Given the description of an element on the screen output the (x, y) to click on. 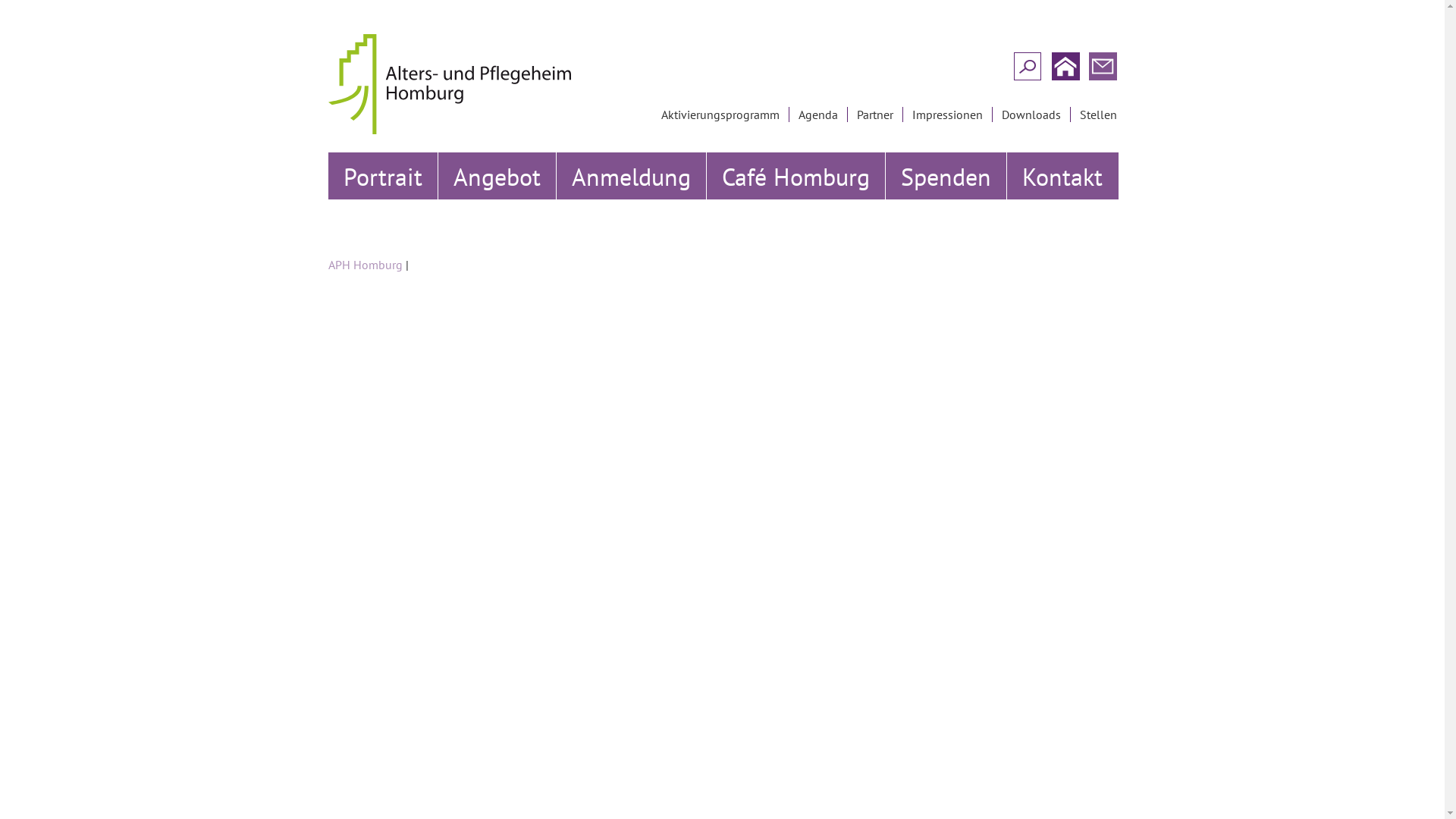
Skip to content Element type: text (312, 144)
Aktivierungsprogramm Element type: text (721, 114)
Suche Element type: text (18, 14)
Partner Element type: text (876, 114)
Portrait Element type: text (382, 175)
Impressionen Element type: text (948, 114)
Stellen Element type: text (1099, 114)
Downloads Element type: text (1031, 114)
Leitbild Element type: text (416, 223)
Spenden Element type: text (946, 175)
Wohnen Element type: text (527, 223)
APH Homburg Element type: text (364, 264)
Kontakt Element type: text (1062, 175)
Anmeldung Element type: text (631, 175)
Angebot Element type: text (497, 175)
Zimmer Element type: text (645, 223)
Agenda Element type: text (818, 114)
